Given the description of an element on the screen output the (x, y) to click on. 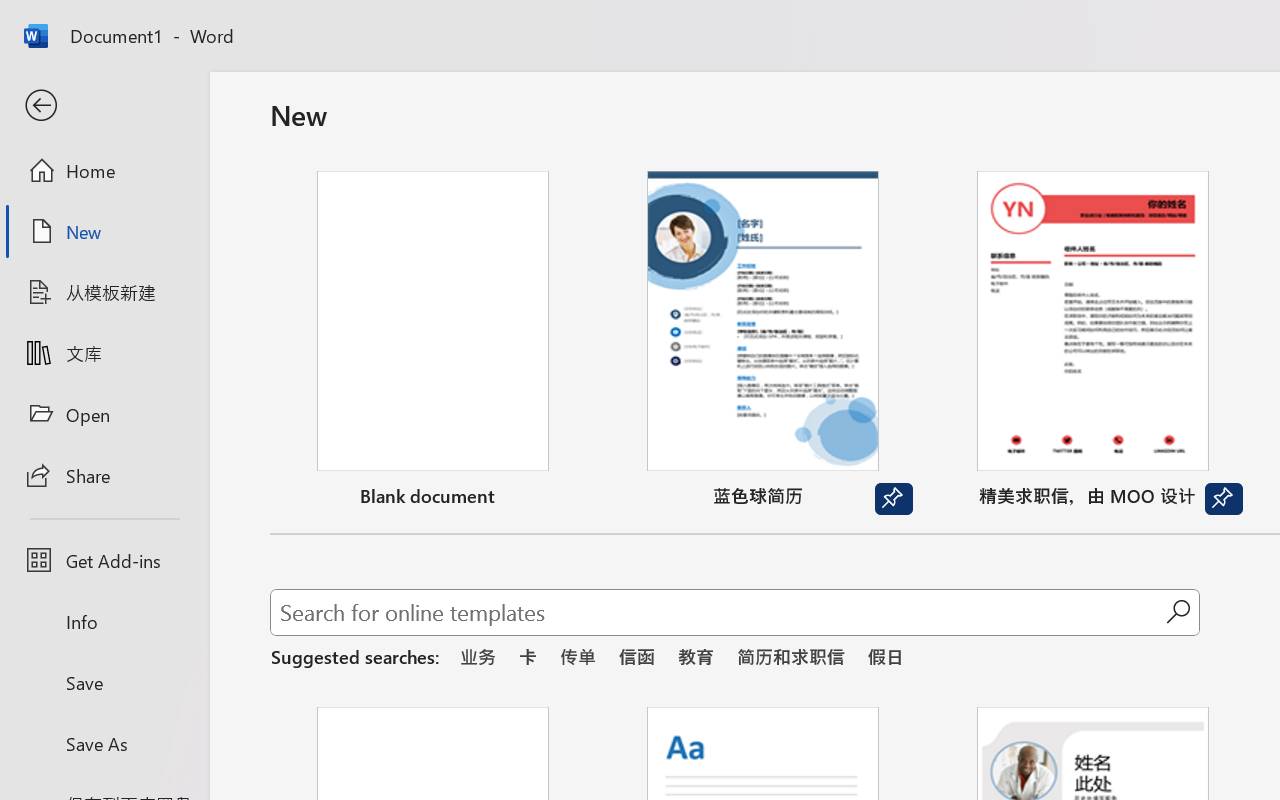
Install (1082, 672)
Currencies - Google Finance (509, 22)
TV (893, 212)
Privacy Checkup (1138, 22)
Apps (321, 132)
Tablet (790, 212)
Games (248, 132)
Sign in - Google Accounts (823, 22)
Google Play logo (111, 132)
